Given the description of an element on the screen output the (x, y) to click on. 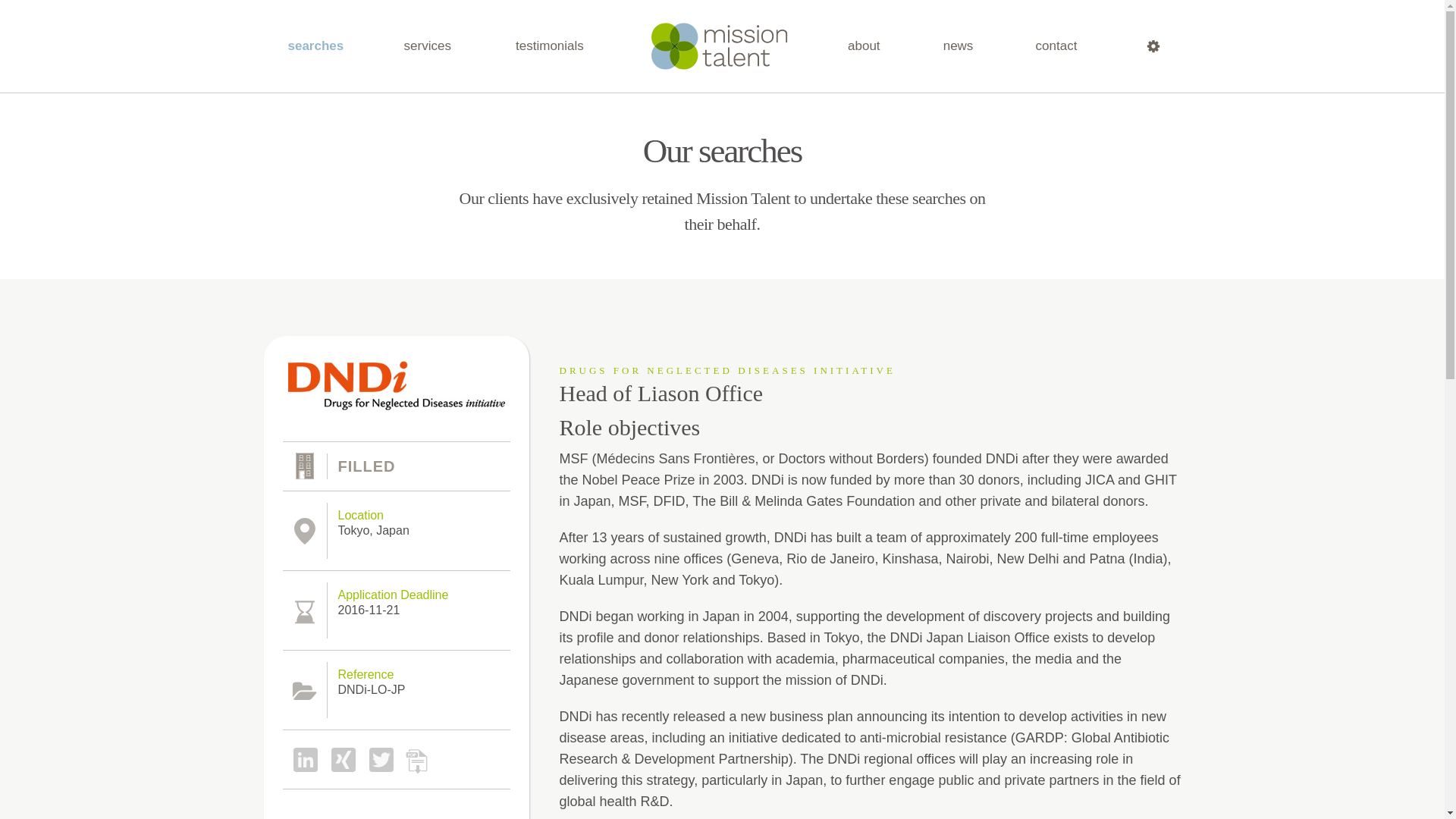
LinkedIn (301, 758)
Search (1148, 45)
news (959, 46)
Testimonials (553, 46)
search (1148, 45)
services (430, 46)
Searches (315, 46)
searches (315, 46)
XING (339, 758)
home (719, 46)
about (865, 46)
About (865, 46)
home (719, 46)
Contact (1058, 46)
Twitter (377, 758)
